Given the description of an element on the screen output the (x, y) to click on. 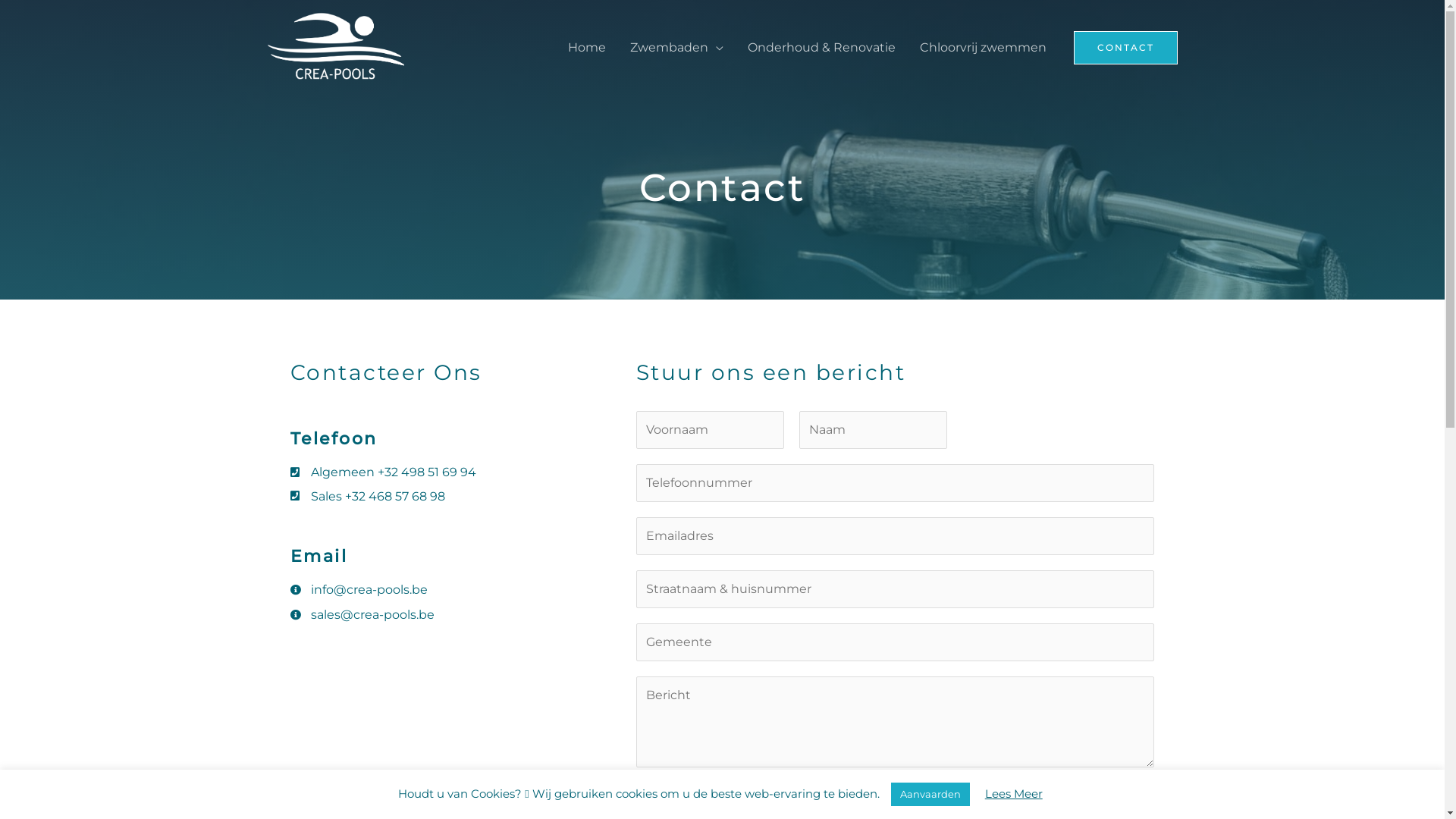
CONTACT Element type: text (1125, 47)
Sales +32 468 57 68 98 Element type: text (462, 496)
Lees Meer Element type: text (1013, 793)
Zwembaden Element type: text (675, 47)
Chloorvrij zwemmen Element type: text (981, 47)
Aanvaarden Element type: text (930, 794)
sales@crea-pools.be Element type: text (462, 614)
info@crea-pools.be Element type: text (462, 589)
Home Element type: text (586, 47)
Onderhoud & Renovatie Element type: text (821, 47)
Algemeen +32 498 51 69 94 Element type: text (462, 472)
